Given the description of an element on the screen output the (x, y) to click on. 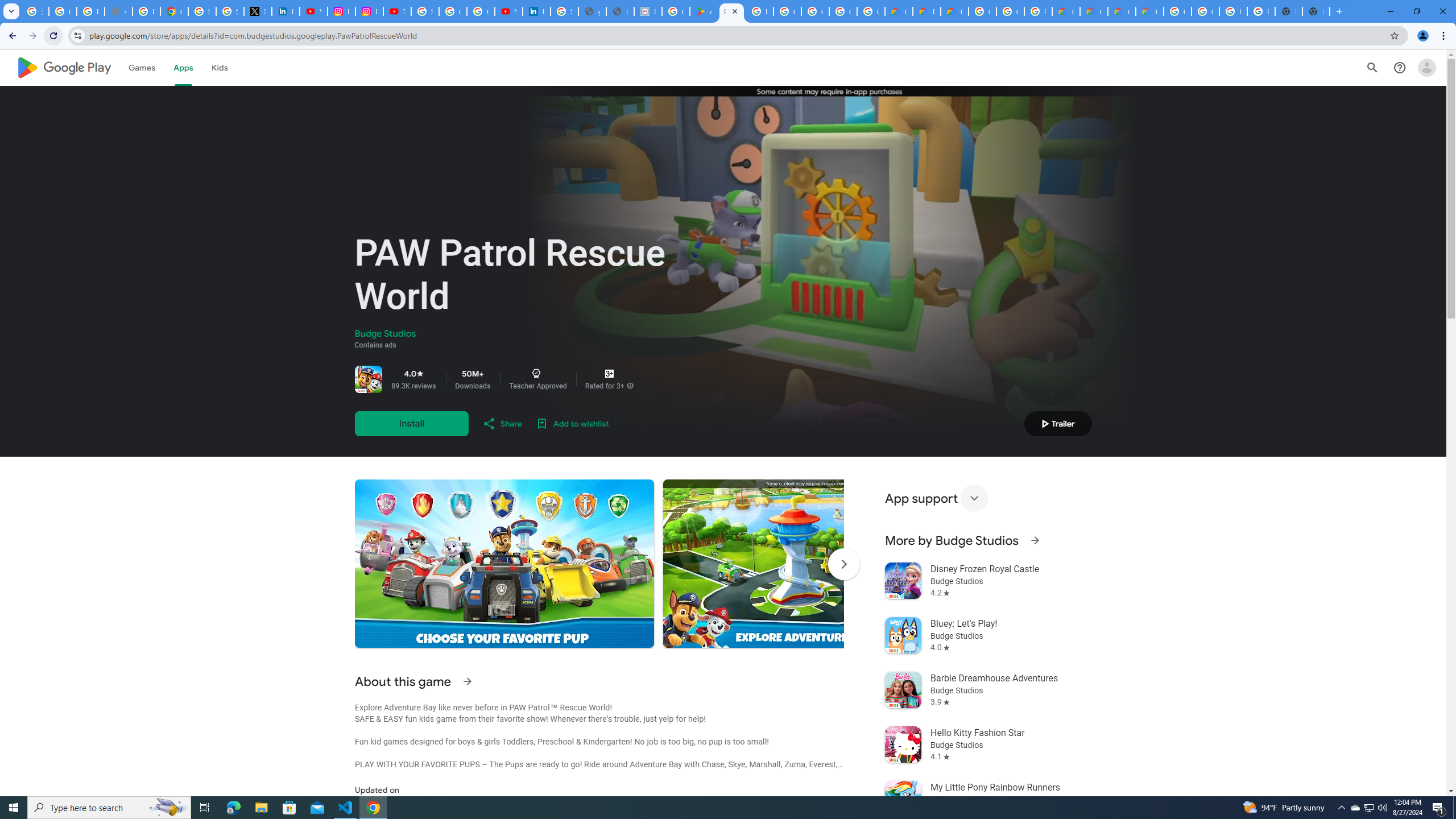
Google Cloud Platform (982, 11)
Add to wishlist (571, 422)
Screenshot image (812, 563)
Google Cloud Service Health (1150, 11)
See more information on About this game (466, 681)
